Given the description of an element on the screen output the (x, y) to click on. 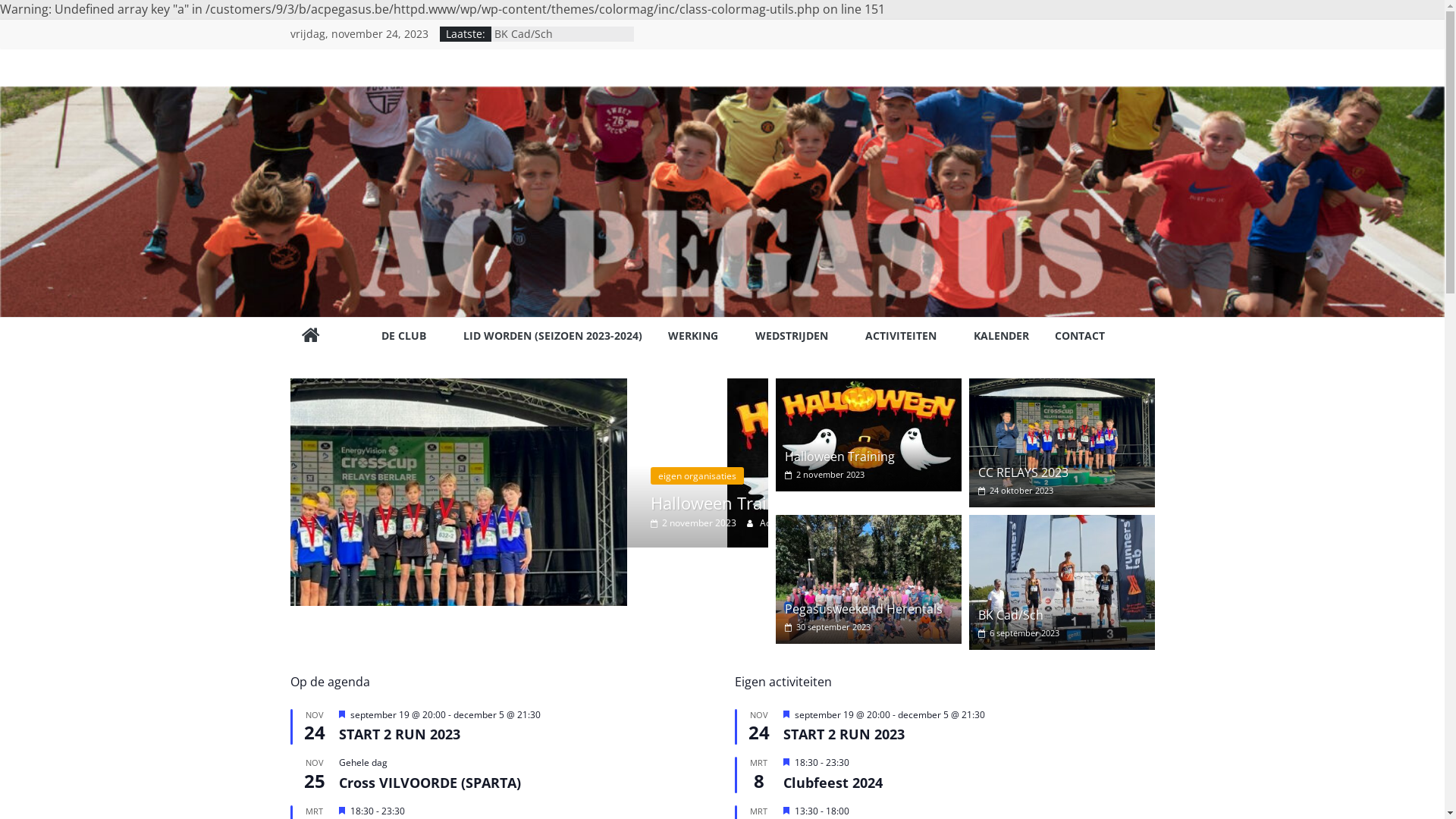
30 september 2023 Element type: text (827, 626)
WEDSTRIJDEN Element type: text (797, 336)
6 september 2023 Element type: text (1018, 632)
AdminMW Element type: text (445, 522)
AC Pegasus Londerzeel Element type: text (379, 132)
BK Cad/Sch Element type: hover (1061, 581)
2 november 2023 Element type: text (824, 474)
KALENDER Element type: text (1001, 336)
Pegasusweekend Herentals Element type: text (863, 608)
eigen organisaties Element type: text (360, 475)
24 oktober 2023 Element type: text (1015, 489)
AC Pegasus Londerzeel Element type: hover (309, 335)
BK Cad/Sch Element type: text (1010, 614)
Halloween Training Element type: hover (867, 387)
Halloween Training Element type: hover (867, 433)
2 november 2023 Element type: text (356, 522)
CC RELAYS 2023 Element type: hover (528, 387)
START 2 RUN 2023 Element type: text (398, 787)
Halloween Training Element type: text (543, 33)
ACTIVITEITEN Element type: text (905, 336)
START 2 RUN 2023 Element type: text (842, 787)
CONTACT Element type: text (1079, 336)
Pegasusweekend Herentals Element type: hover (867, 578)
Halloween Training Element type: text (388, 502)
CC RELAYS 2023 Element type: hover (1061, 387)
WERKING Element type: text (697, 336)
CC RELAYS 2023 Element type: hover (1061, 441)
CC RELAYS 2023 Element type: hover (528, 543)
Halloween Training Element type: text (839, 456)
LID WORDEN (SEIZOEN 2023-2024) Element type: text (551, 336)
DE CLUB Element type: text (408, 336)
CC RELAYS 2023 Element type: text (1023, 472)
BK Cad/Sch Element type: hover (1061, 523)
Pegasusweekend Herentals Element type: hover (867, 523)
